Given the description of an element on the screen output the (x, y) to click on. 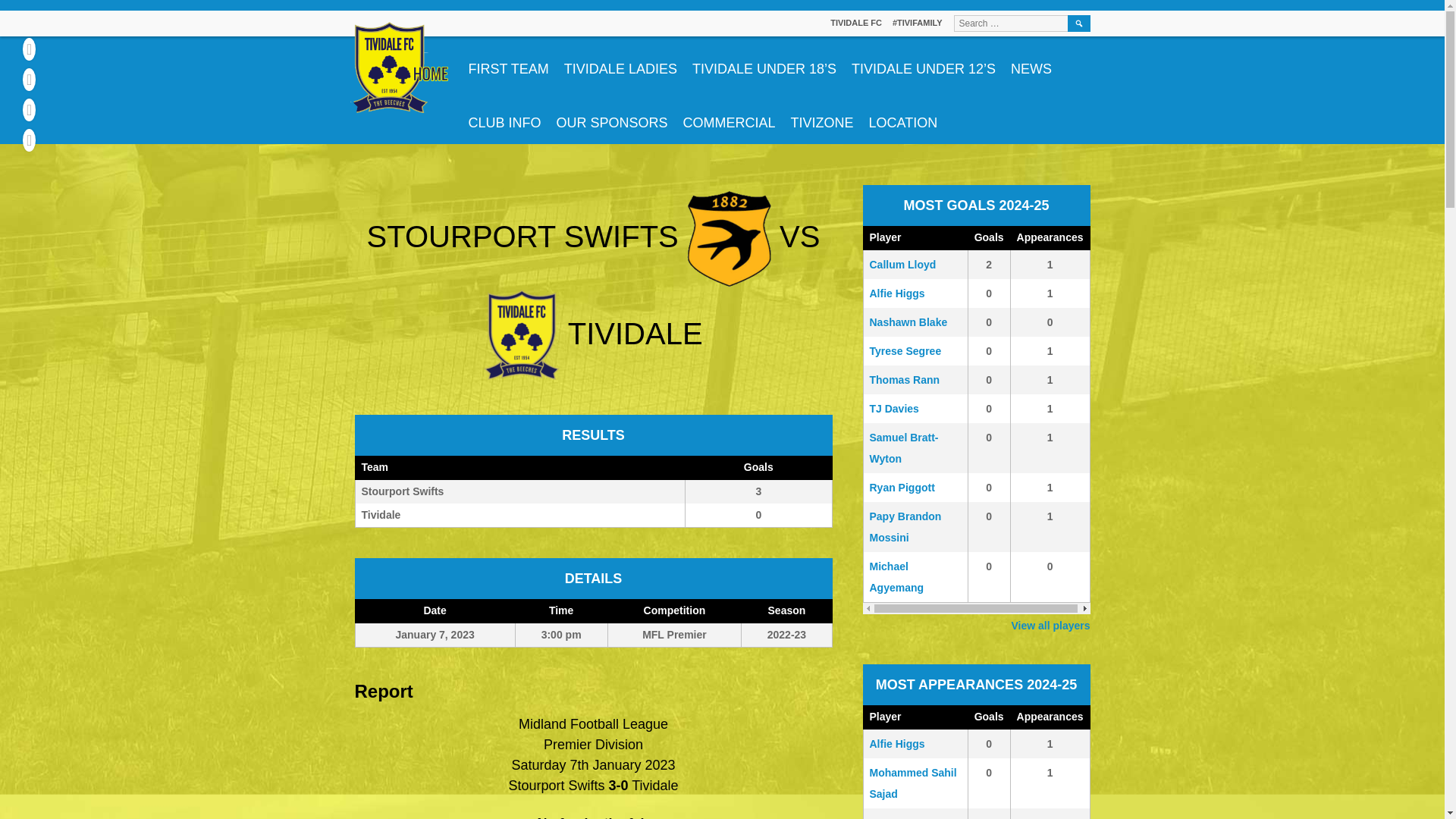
NEWS (1031, 63)
CLUB INFO (593, 491)
OUR SPONSORS (504, 117)
FIRST TEAM (611, 117)
Search (508, 63)
LOCATION (593, 491)
TIVIDALE FC (1078, 23)
